Given the description of an element on the screen output the (x, y) to click on. 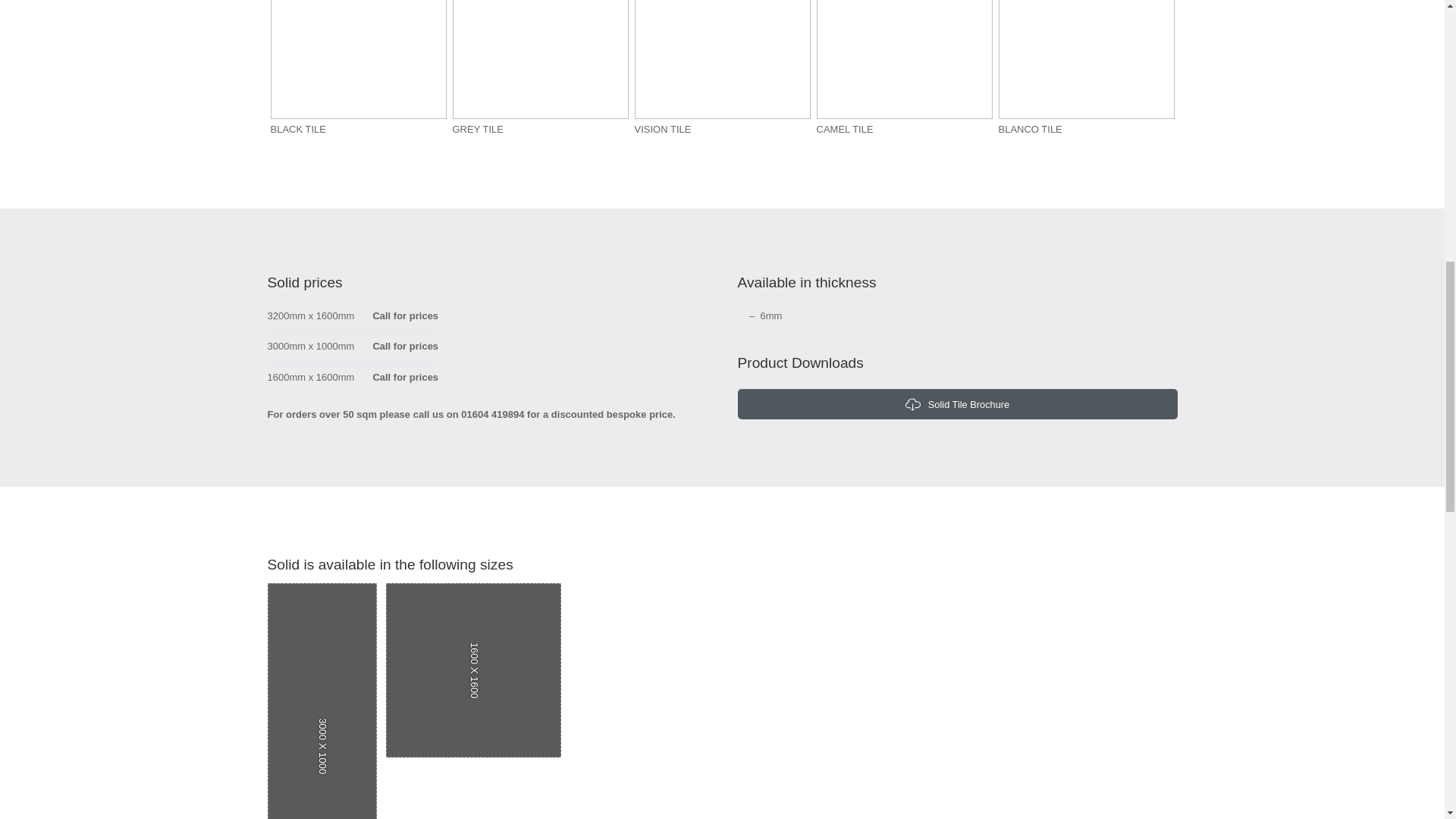
BLACK TILE (357, 70)
CAMEL TILE (903, 70)
VISION TILE (721, 70)
GREY TILE (539, 70)
BLANCO TILE (1085, 70)
